Given the description of an element on the screen output the (x, y) to click on. 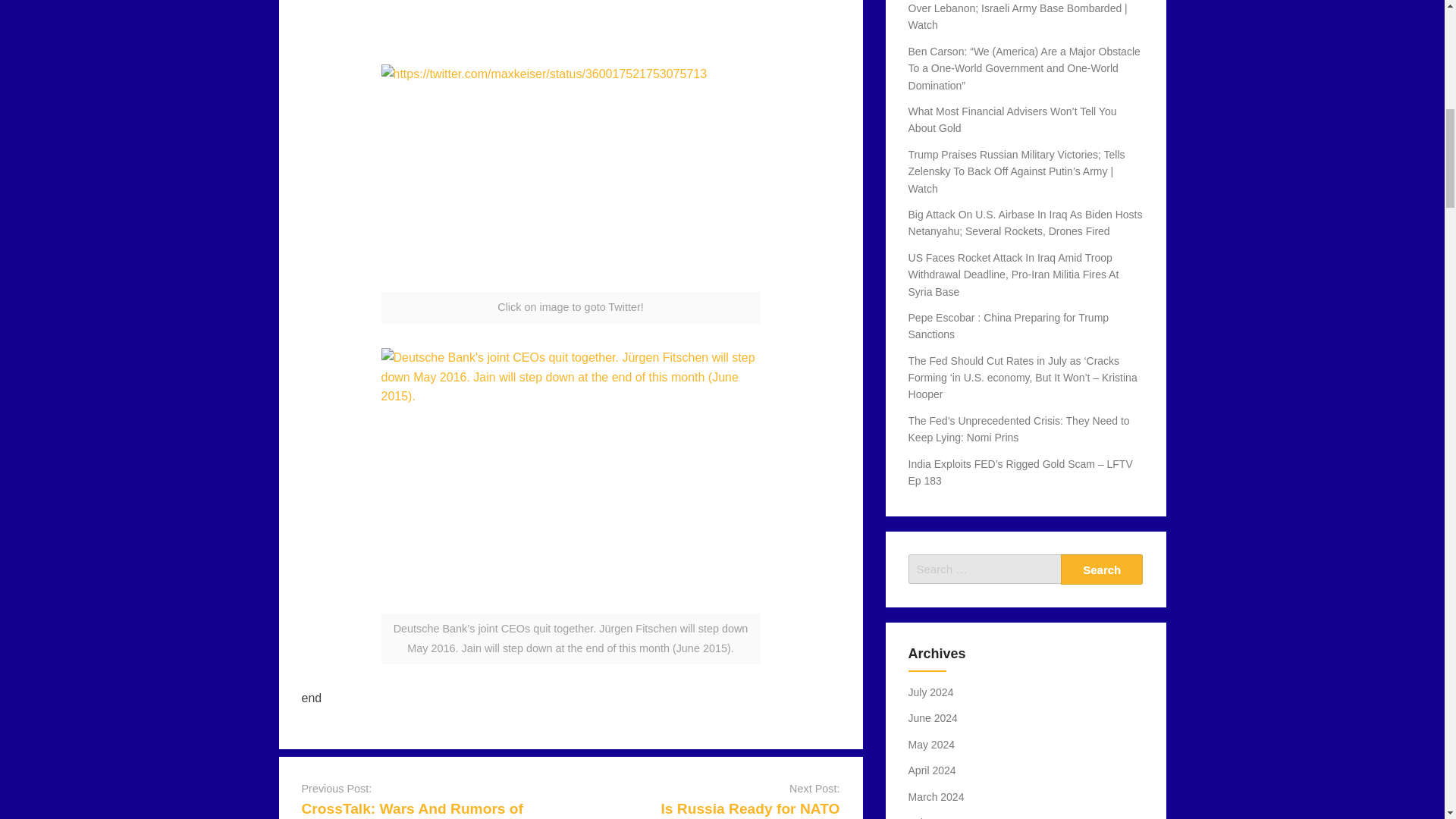
May 2024 (931, 744)
Search (1101, 569)
CrossTalk: Wars And Rumors of War (411, 809)
Search (1101, 569)
June 2024 (933, 717)
Pepe Escobar : China Preparing for Trump Sanctions (1008, 326)
April 2024 (932, 770)
July 2024 (930, 692)
Search (1101, 569)
